Given the description of an element on the screen output the (x, y) to click on. 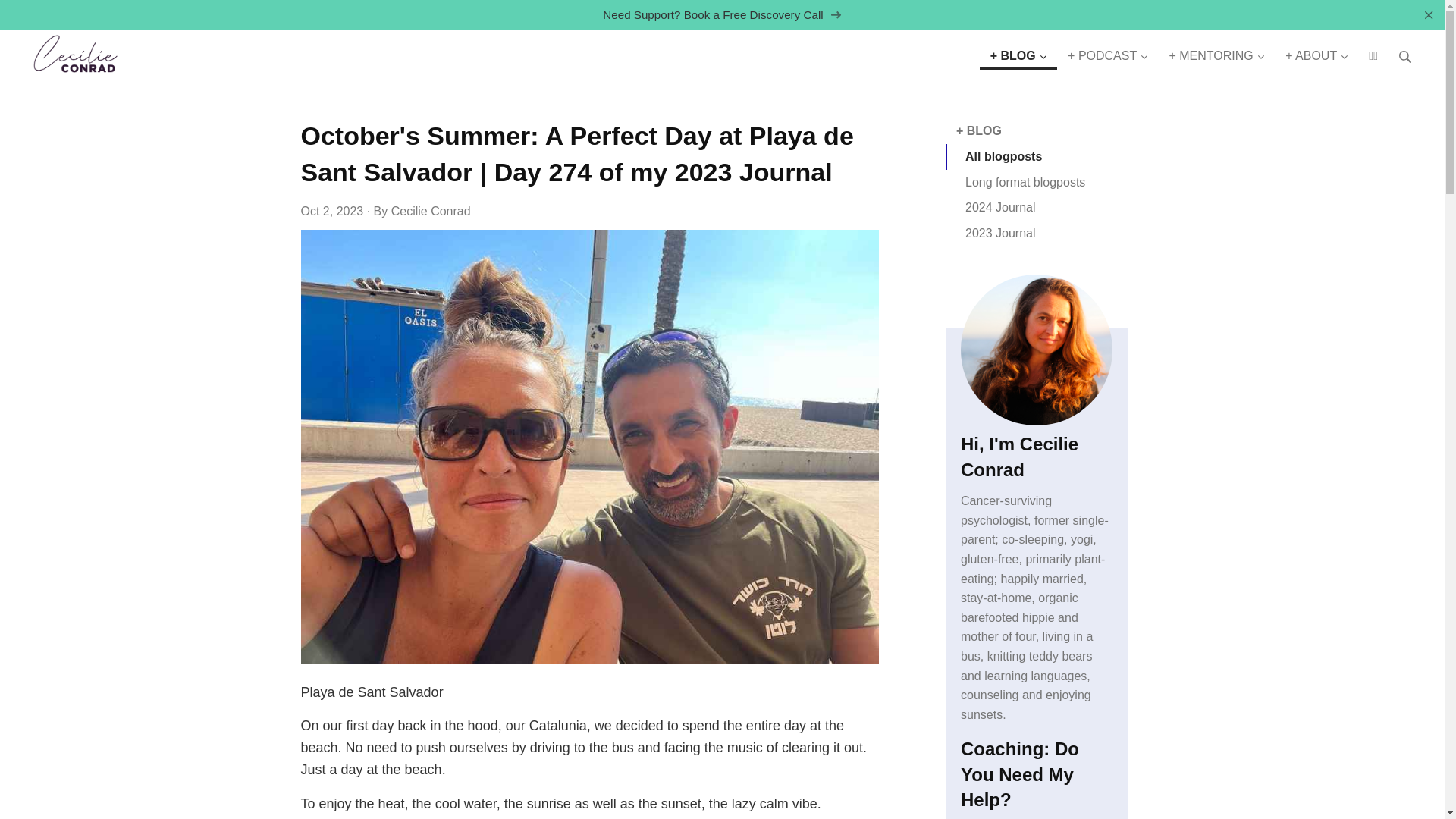
Long format blogposts (1035, 182)
Need Support? Book a Free Discovery Call (722, 14)
All blogposts (1035, 156)
2023 Journal (1035, 233)
2024 Journal (1035, 207)
